Given the description of an element on the screen output the (x, y) to click on. 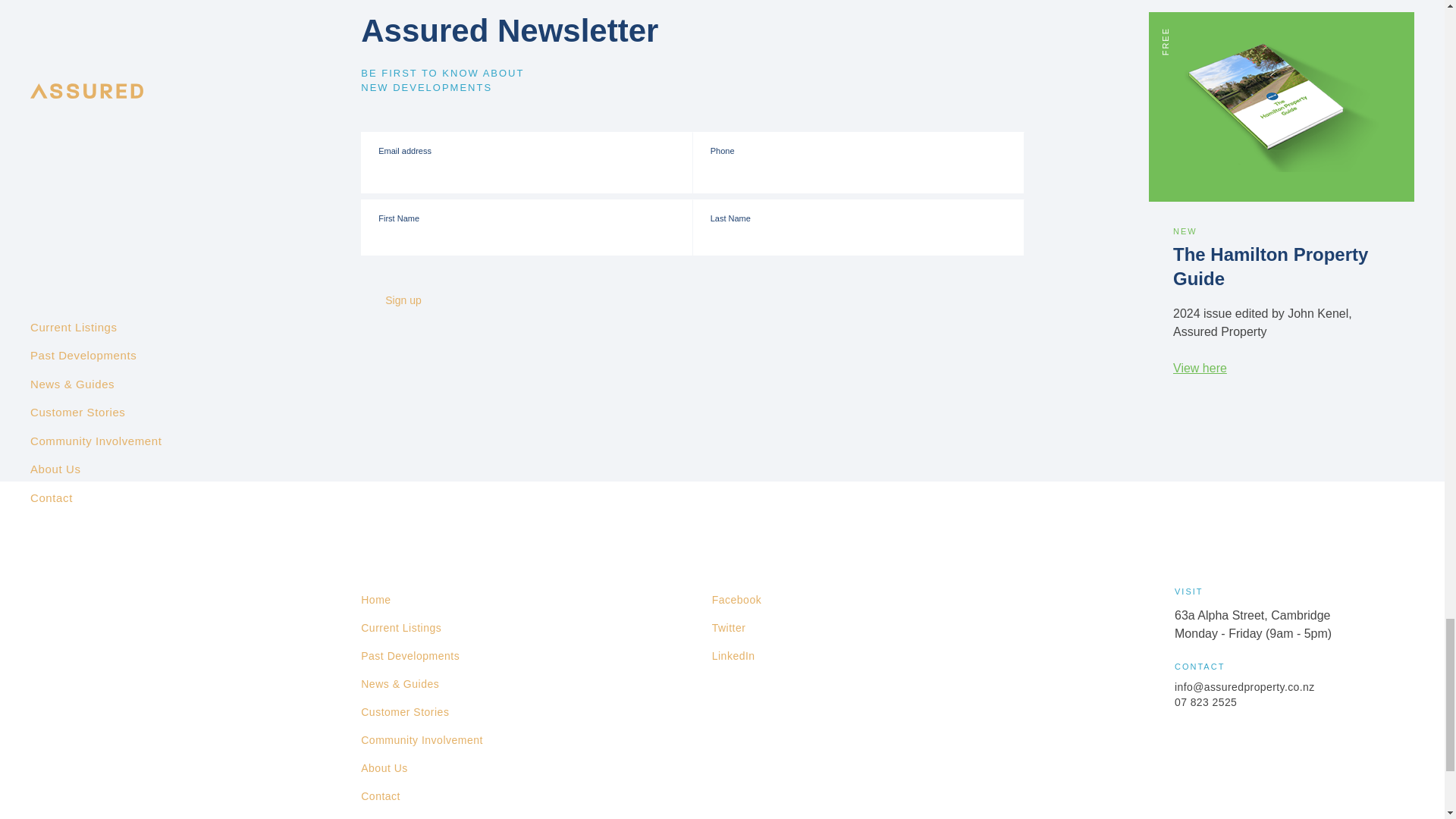
Community Involvement (422, 740)
Facebook (736, 600)
Current Listings (401, 628)
Home (375, 600)
Sign up (417, 299)
Customer Stories (404, 712)
Privacy Policy (396, 814)
Twitter (728, 628)
View here (1200, 367)
About Us (384, 768)
Sign up (417, 299)
Past Developments (410, 656)
Contact (380, 796)
